Given the description of an element on the screen output the (x, y) to click on. 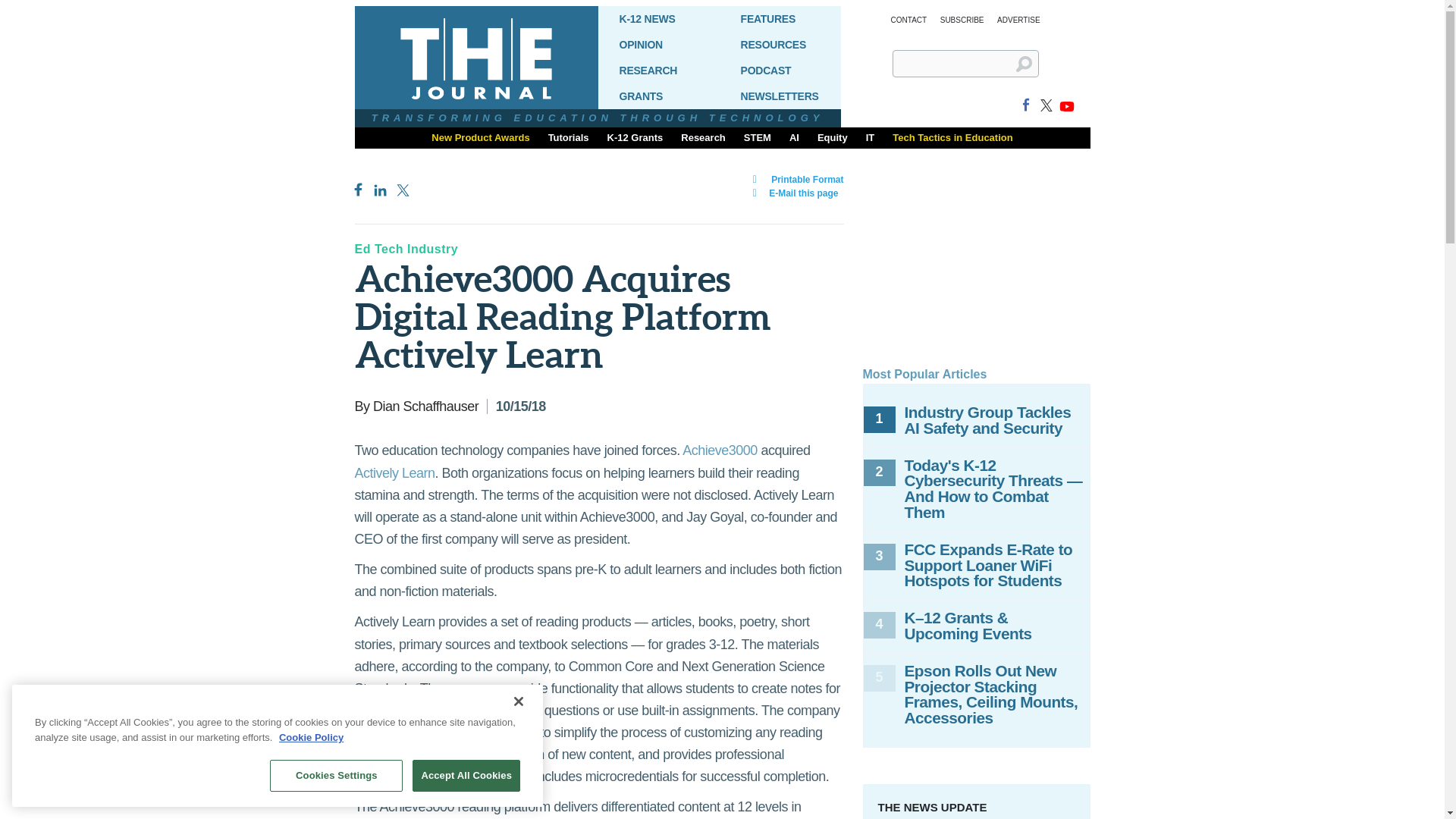
GRANTS (658, 95)
K-12 Grants (635, 137)
Tech Tactics in Education (952, 137)
FEATURES (780, 18)
New Product Awards (480, 137)
Search (1029, 69)
SUBSCRIBE (961, 19)
ADVERTISE (1018, 19)
OPINION (658, 44)
NEWSLETTERS (780, 95)
PODCAST (780, 70)
Research (703, 137)
AI (794, 137)
STEM (757, 137)
Equity (832, 137)
